Given the description of an element on the screen output the (x, y) to click on. 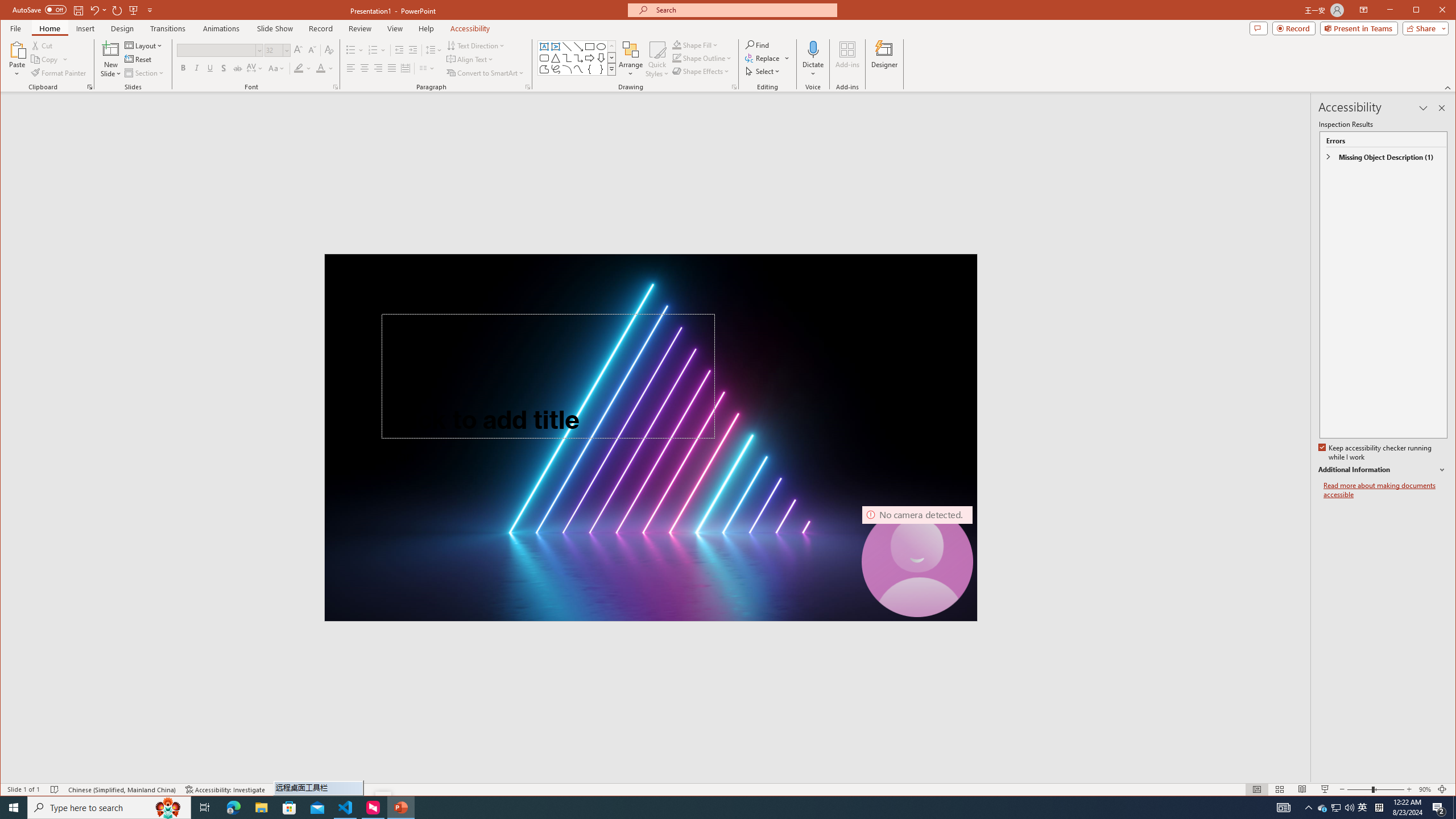
Italic (196, 68)
Shape Outline Blue, Accent 1 (676, 57)
Microsoft Edge (233, 807)
Convert to SmartArt (485, 72)
Align Text (470, 59)
